Given the description of an element on the screen output the (x, y) to click on. 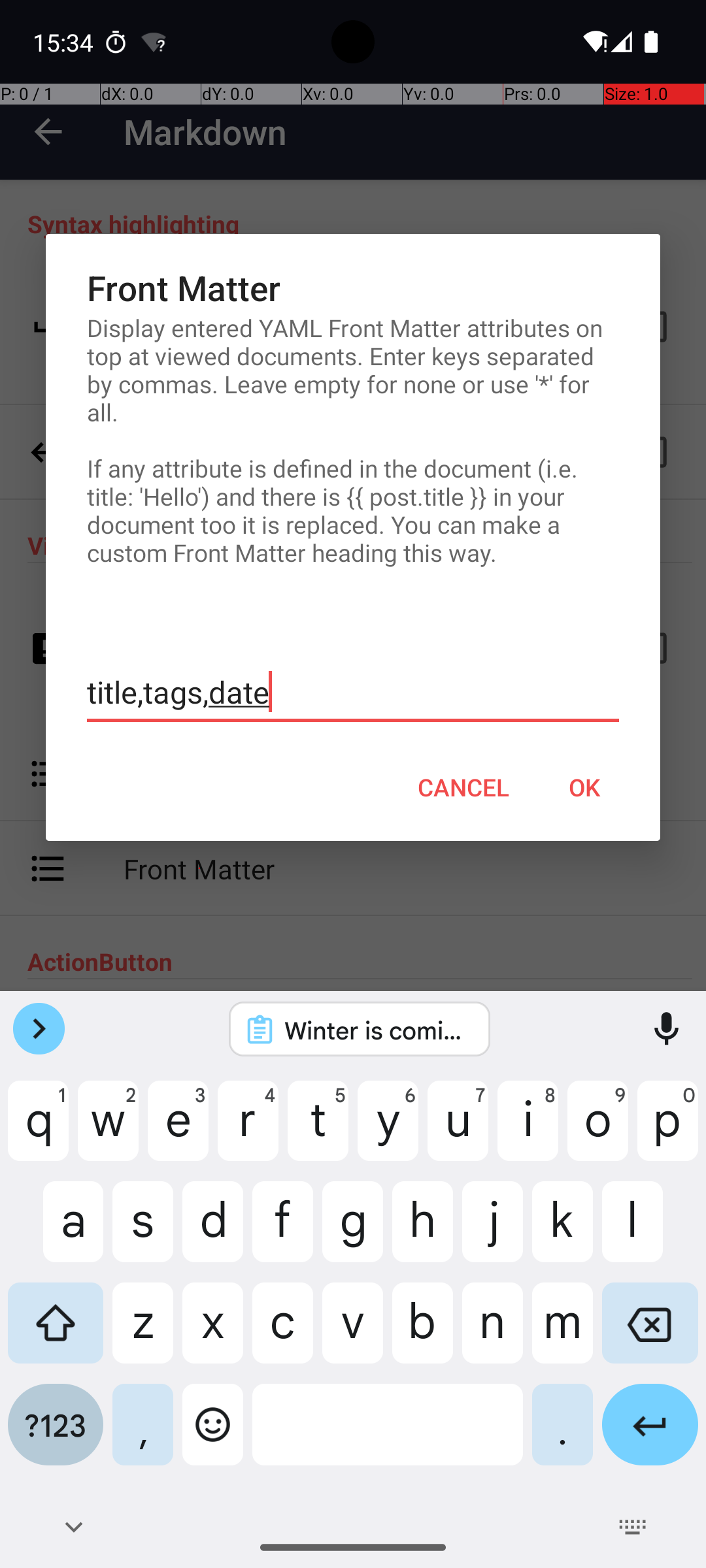
Front Matter Element type: android.widget.TextView (352, 287)
Display entered YAML Front Matter attributes on top at viewed documents. Enter keys separated by commas. Leave empty for none or use '*' for all. 

If any attribute is defined in the document (i.e. title: 'Hello') and there is {{ post.title }} in your document too it is replaced. You can make a custom Front Matter heading this way. Element type: android.widget.TextView (352, 439)
title,tags,date Element type: android.widget.EditText (352, 692)
Winter is coming. Element type: android.widget.TextView (376, 1029)
